Given the description of an element on the screen output the (x, y) to click on. 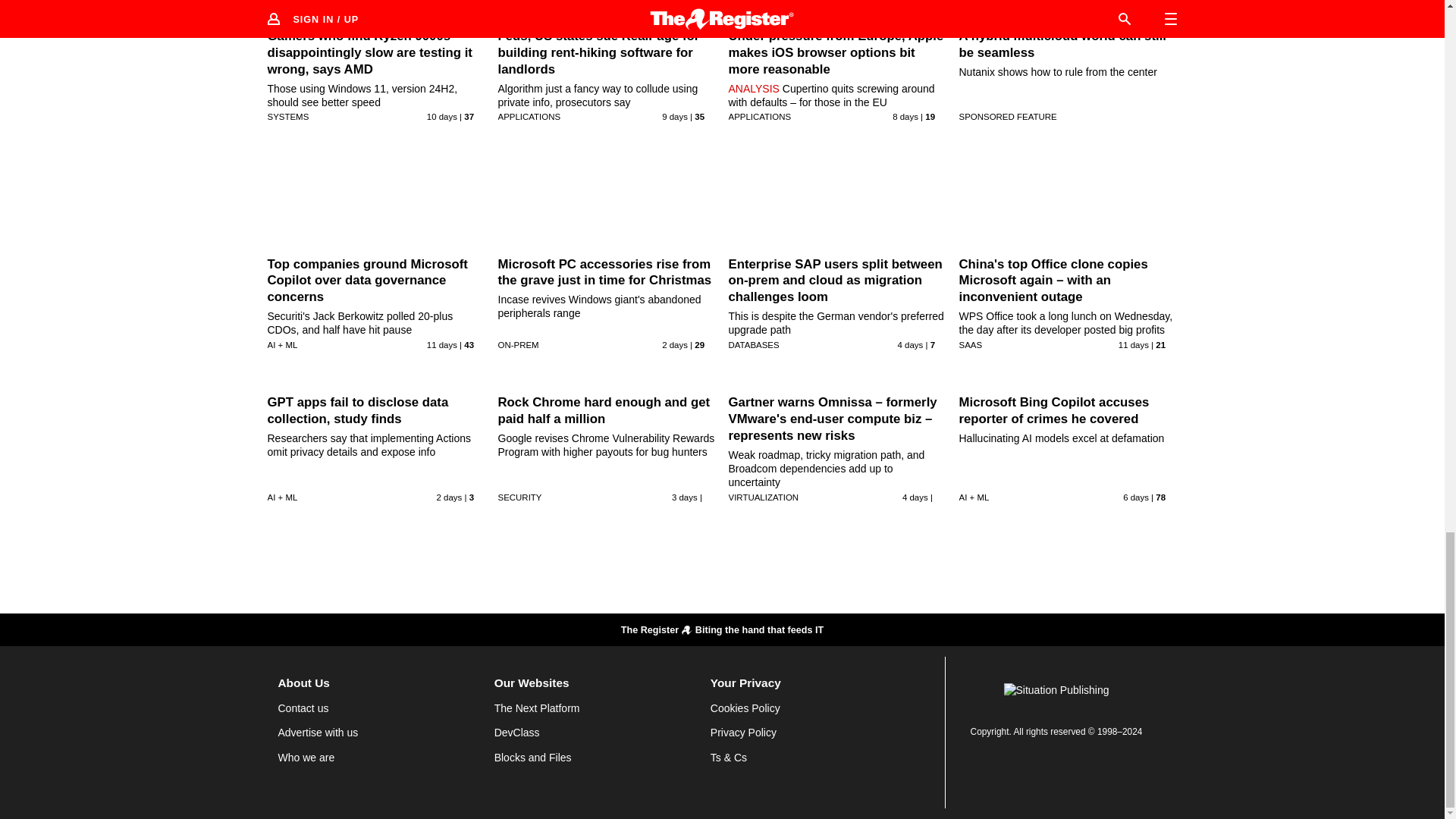
21 Aug 2024 13:0 (441, 344)
23 Aug 2024 0:30 (441, 116)
23 Aug 2024 21:44 (674, 116)
28 Aug 2024 11:33 (910, 344)
30 Aug 2024 10:44 (674, 344)
24 Aug 2024 7:18 (905, 116)
